Given the description of an element on the screen output the (x, y) to click on. 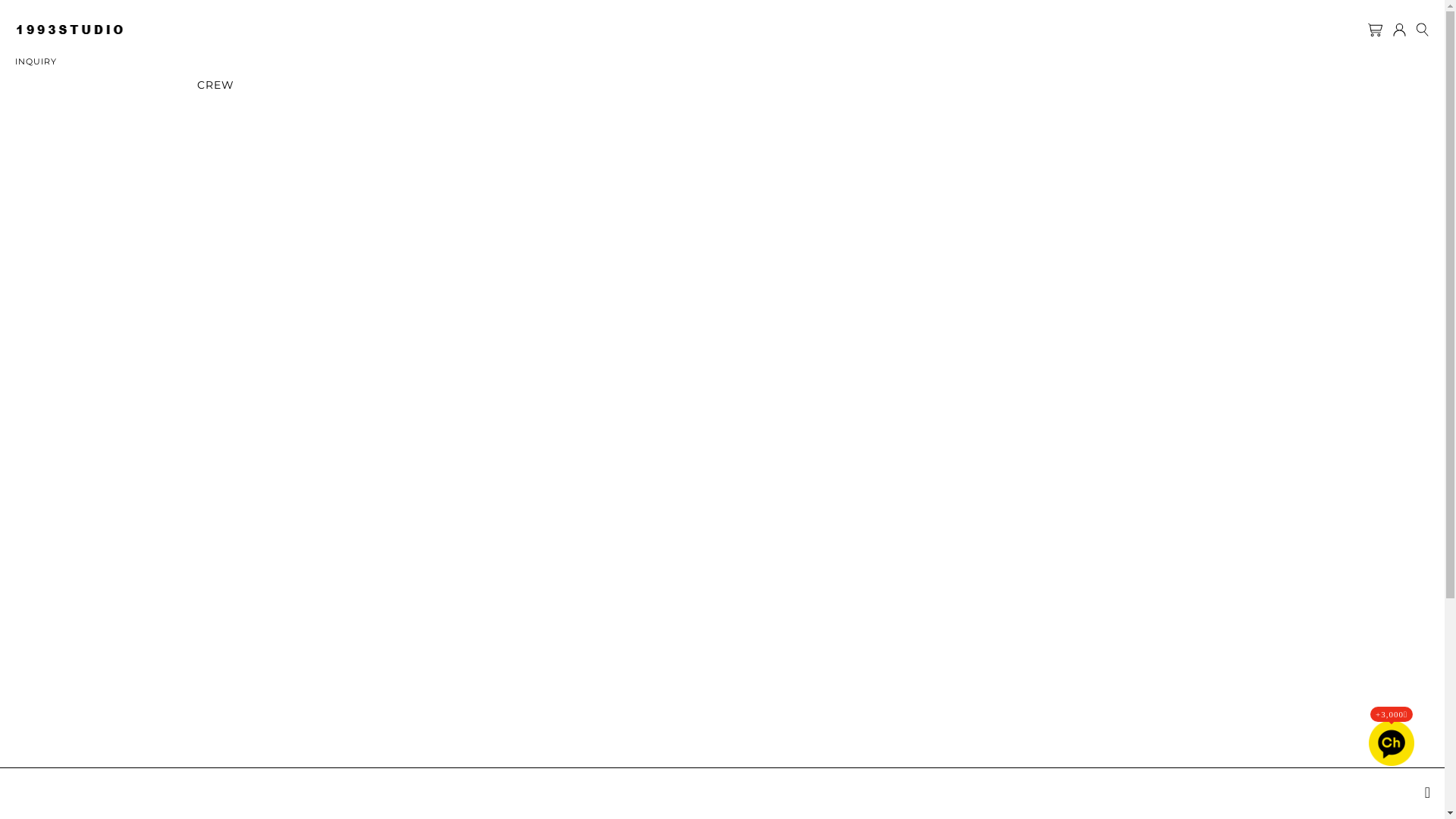
INQUIRY Element type: text (35, 61)
CREW Element type: text (215, 84)
